Given the description of an element on the screen output the (x, y) to click on. 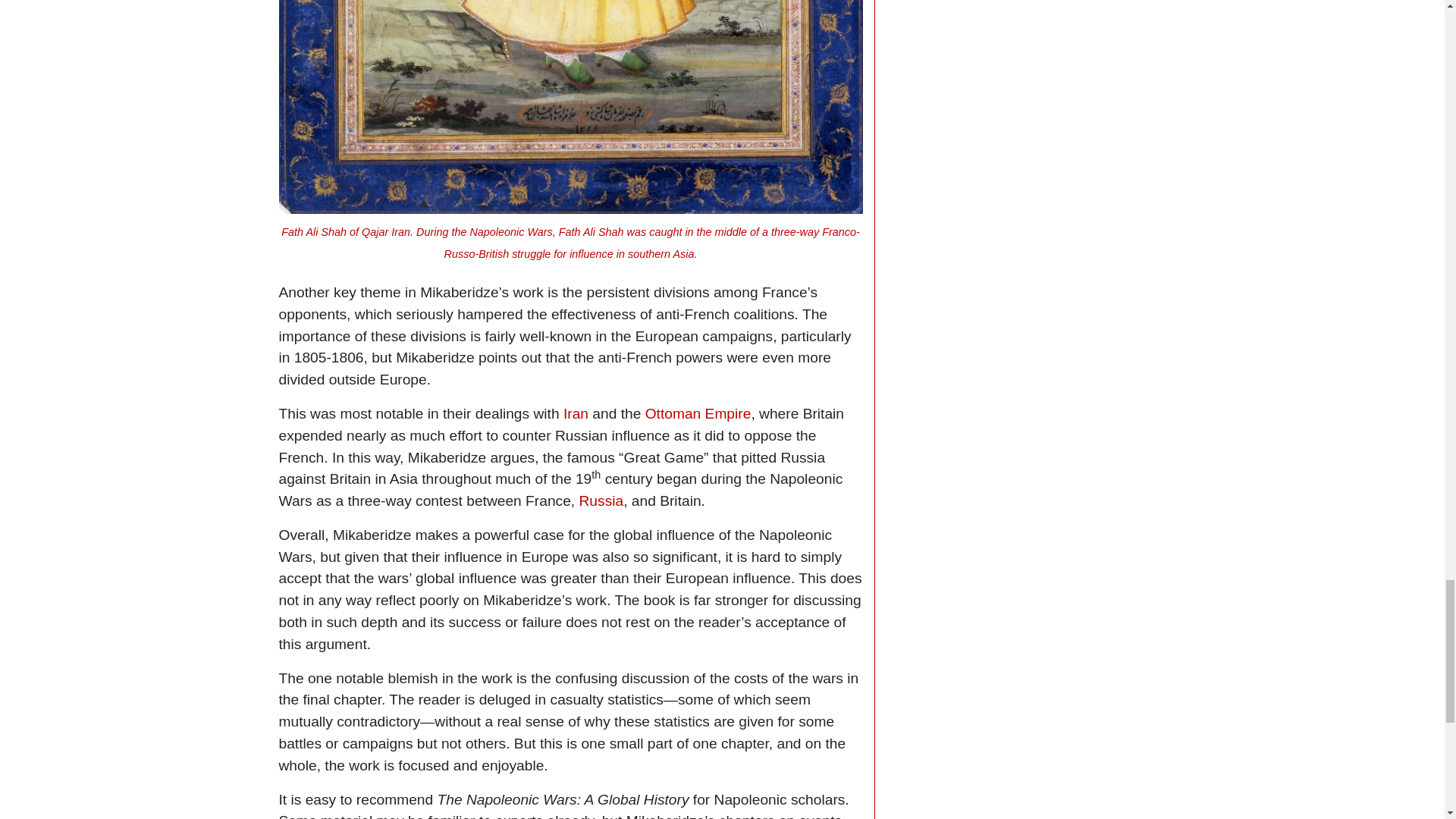
Ottoman Empire (698, 413)
Russia (601, 500)
Iran (575, 413)
